Given the description of an element on the screen output the (x, y) to click on. 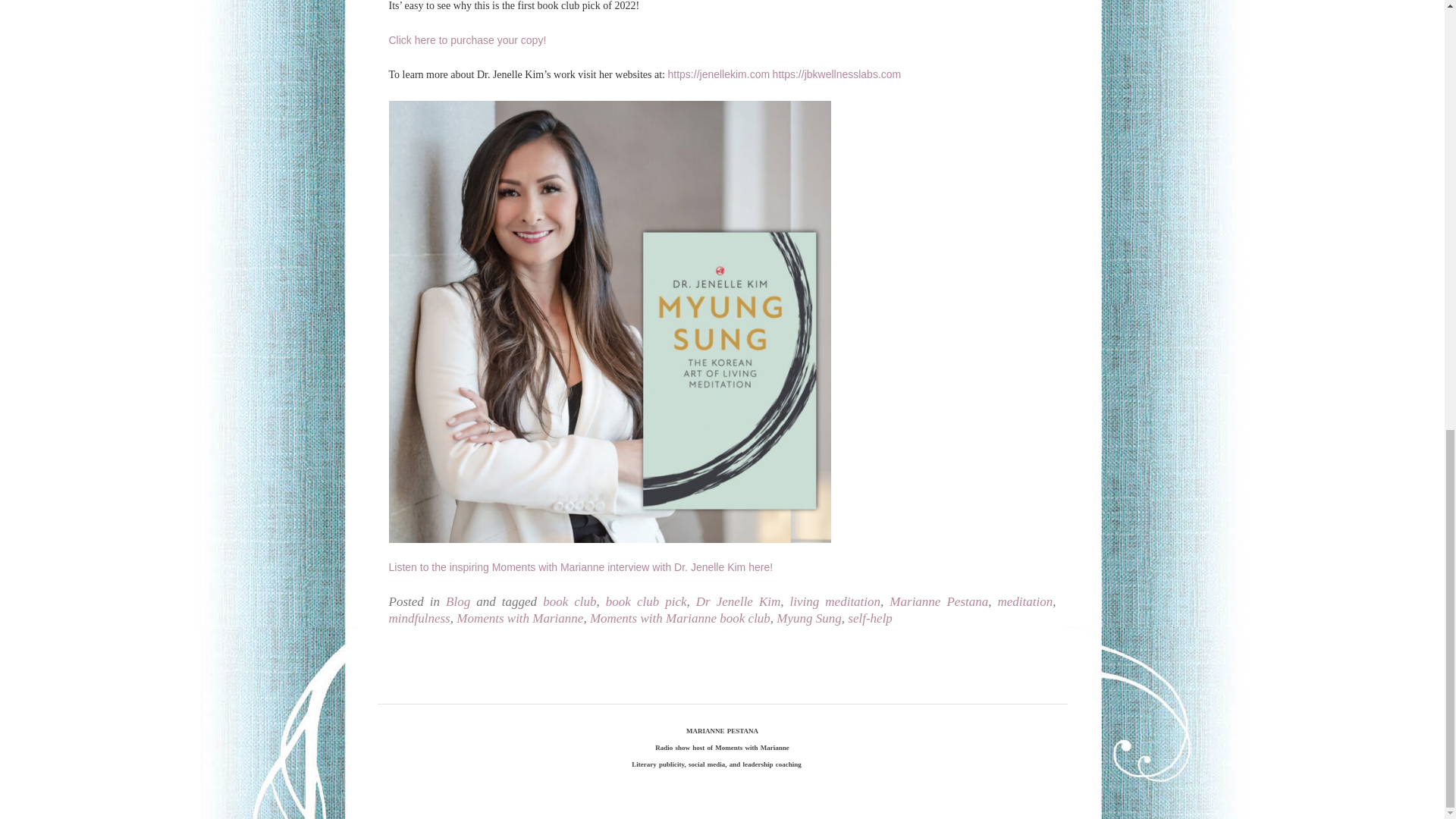
self-help (869, 617)
Moments with Marianne (520, 617)
Dr Jenelle Kim (737, 601)
book club (569, 601)
book club pick (646, 601)
Moments with Marianne book club (679, 617)
Myung Sung (808, 617)
living meditation (835, 601)
Blog (457, 601)
mindfulness (418, 617)
